Given the description of an element on the screen output the (x, y) to click on. 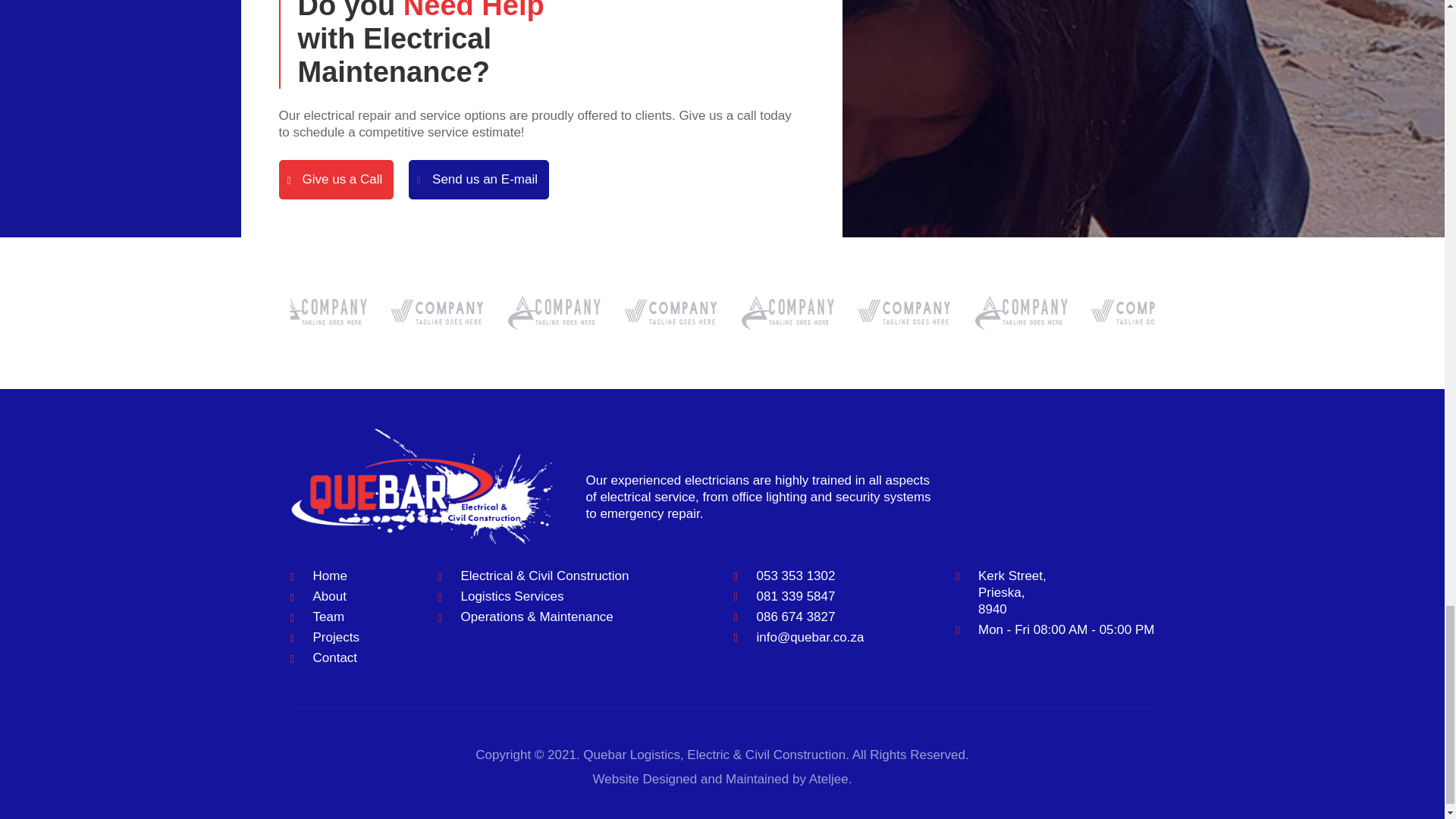
Send us an E-mail (478, 179)
About (329, 595)
Home (329, 575)
Give us a Call (336, 179)
